Given the description of an element on the screen output the (x, y) to click on. 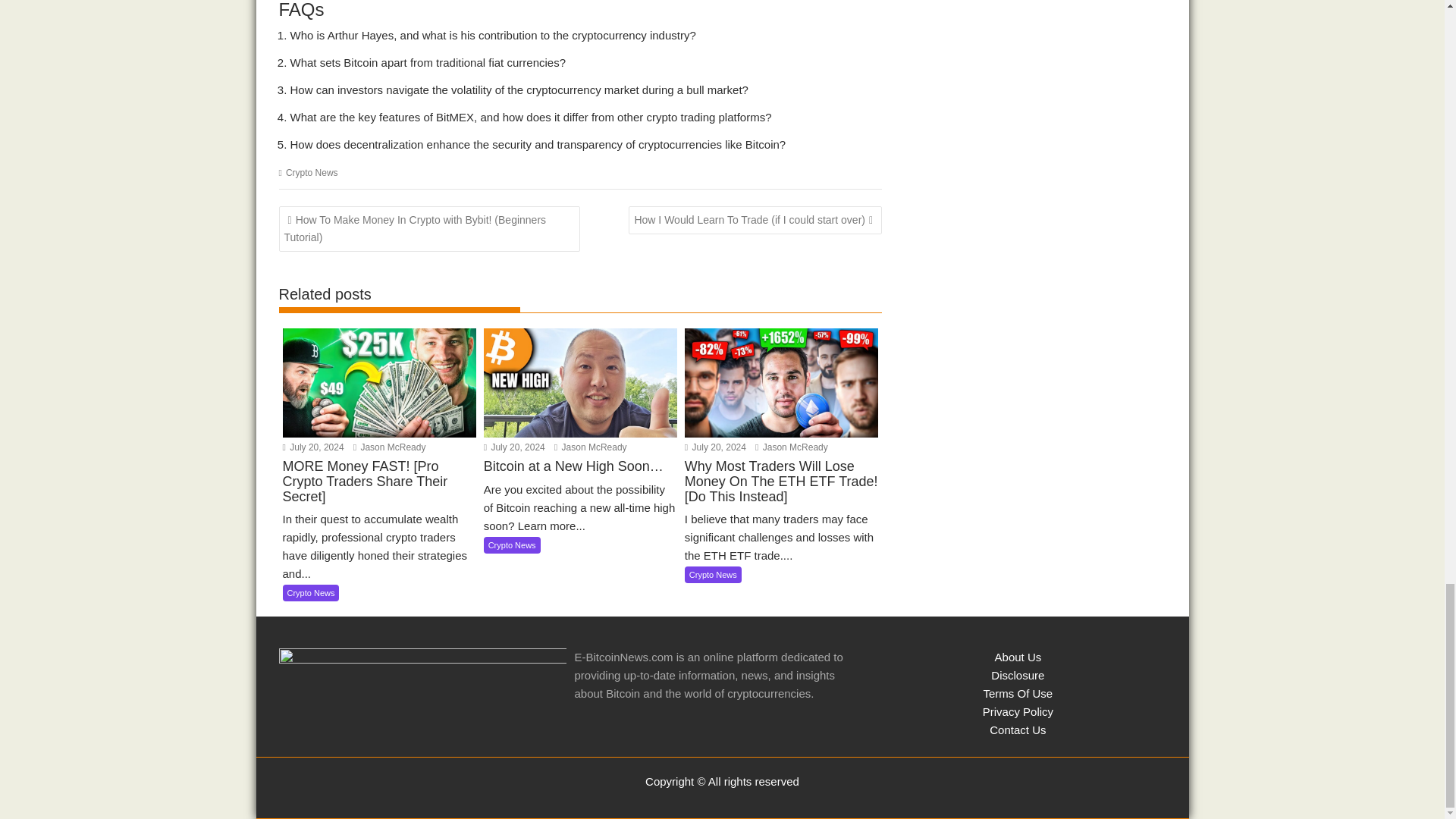
Crypto News (311, 172)
Jason McReady (590, 447)
Jason McReady (590, 447)
Crypto News (310, 592)
July 20, 2024 (714, 447)
July 20, 2024 (513, 447)
Crypto News (511, 545)
July 20, 2024 (312, 447)
Jason McReady (389, 447)
Jason McReady (389, 447)
